Given the description of an element on the screen output the (x, y) to click on. 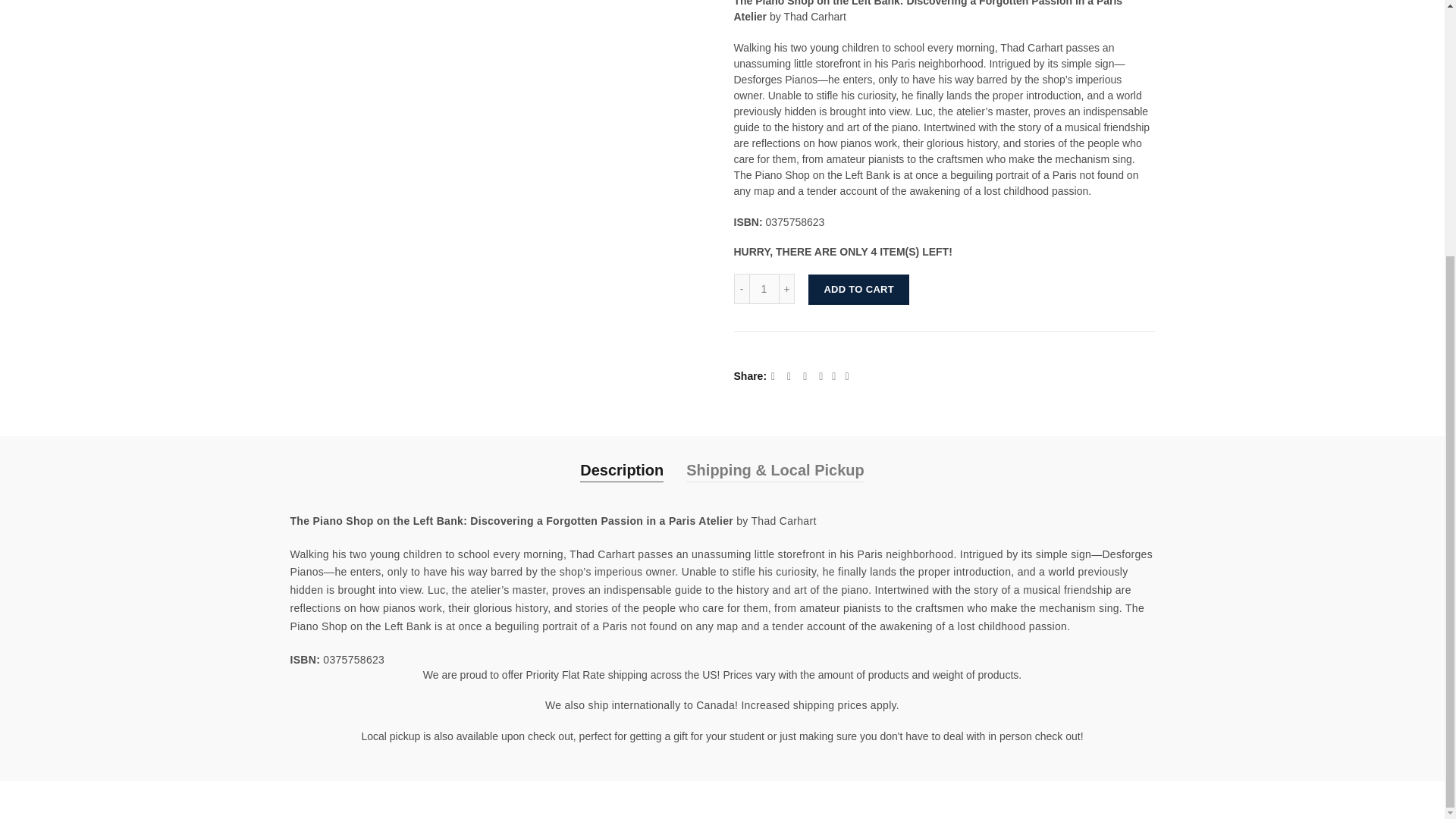
- (741, 288)
Qty (763, 288)
ADD TO CART (858, 289)
1 (763, 288)
Description (621, 469)
